Given the description of an element on the screen output the (x, y) to click on. 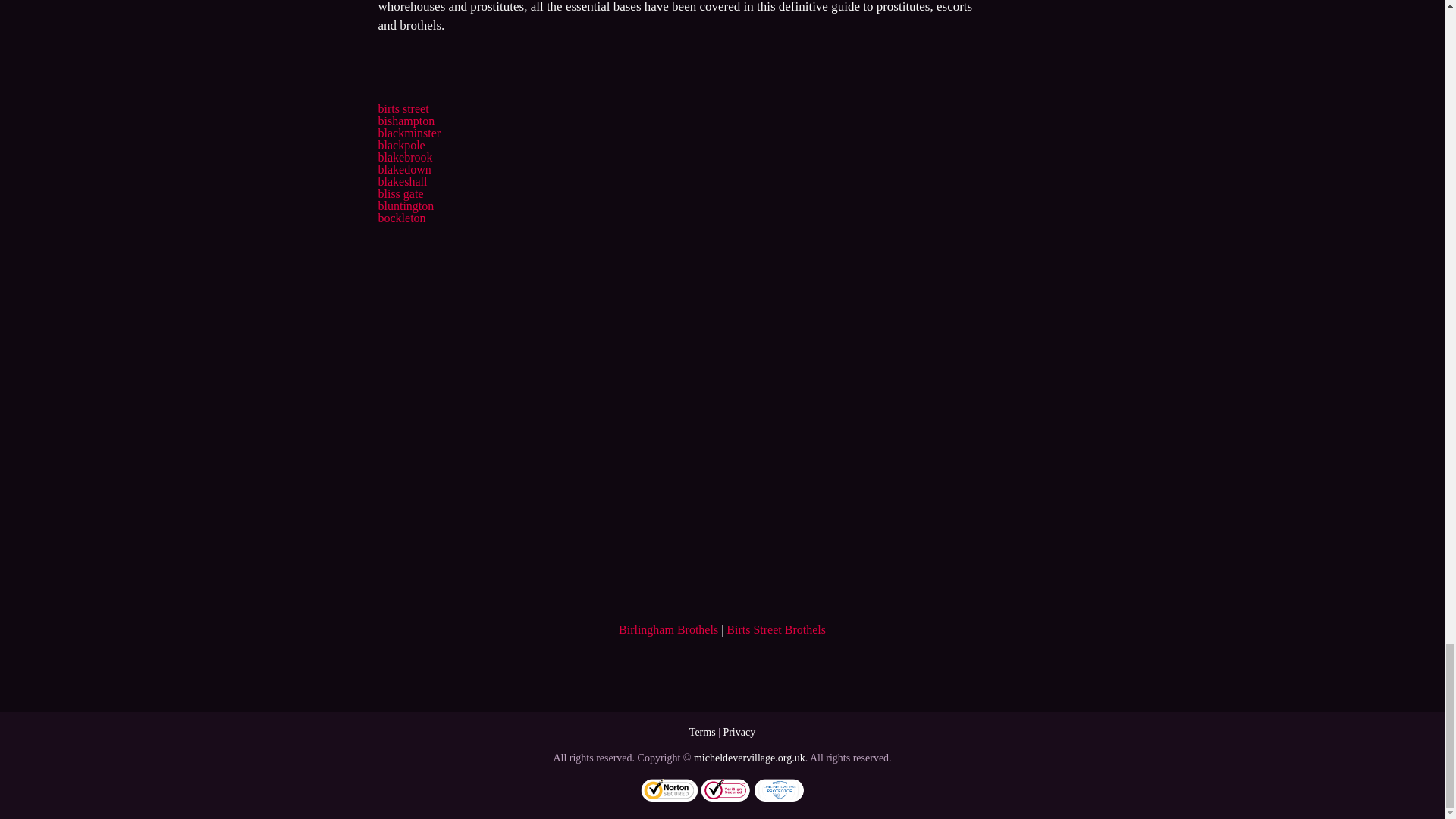
bockleton (401, 217)
Terms (702, 731)
micheldevervillage.org.uk (749, 757)
blakedown (403, 169)
Terms (702, 731)
bishampton (405, 120)
bluntington (405, 205)
blackminster (409, 132)
bliss gate (400, 193)
Privacy (738, 731)
Birts Street Brothels (775, 629)
Birlingham Brothels (667, 629)
blackpole (401, 144)
Privacy (738, 731)
blakebrook (404, 156)
